Given the description of an element on the screen output the (x, y) to click on. 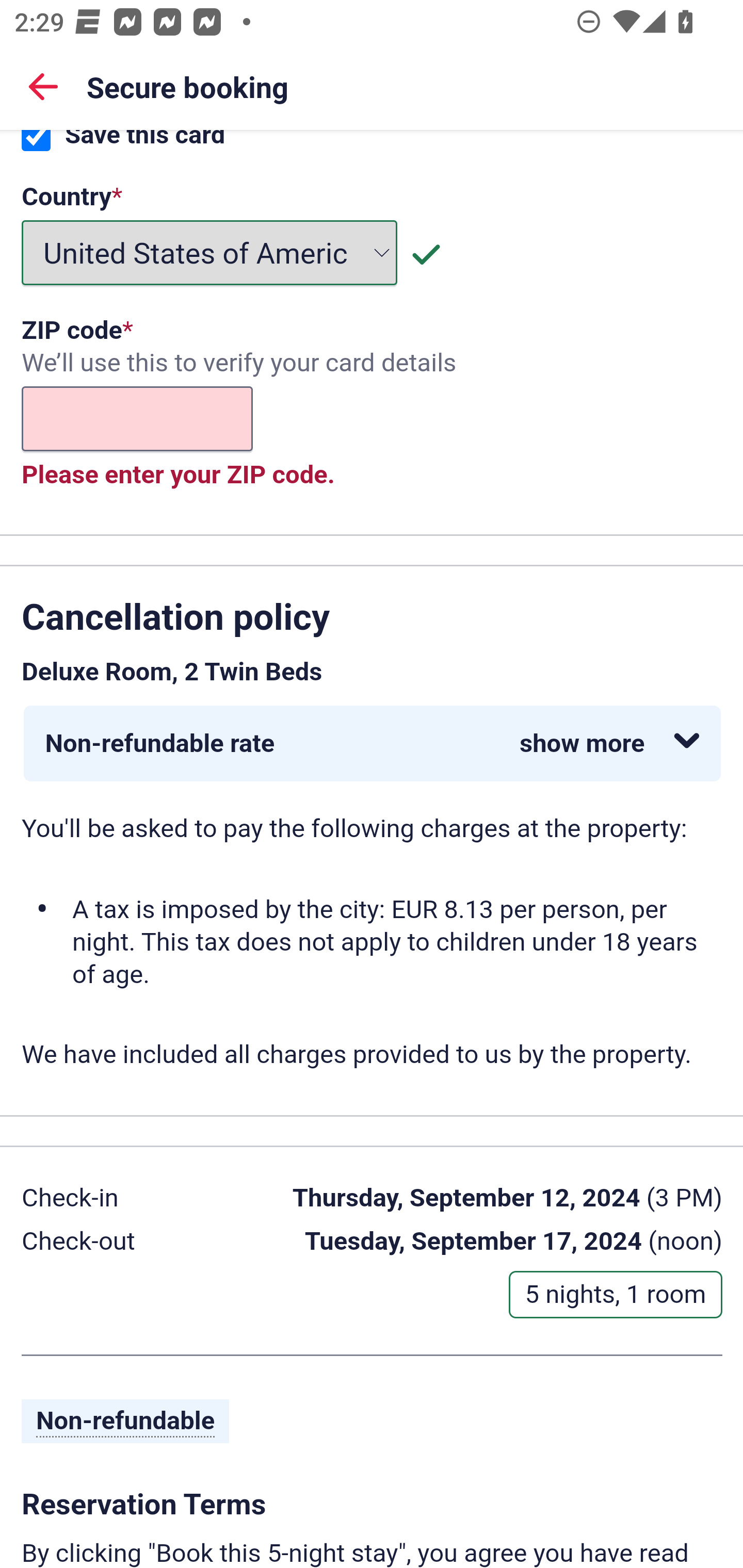
Back (43, 86)
Save this card (36, 143)
United States of America (209, 253)
Non-refundable rate (372, 745)
Non-refundable rate (371, 744)
Non-refundable (126, 1422)
